Given the description of an element on the screen output the (x, y) to click on. 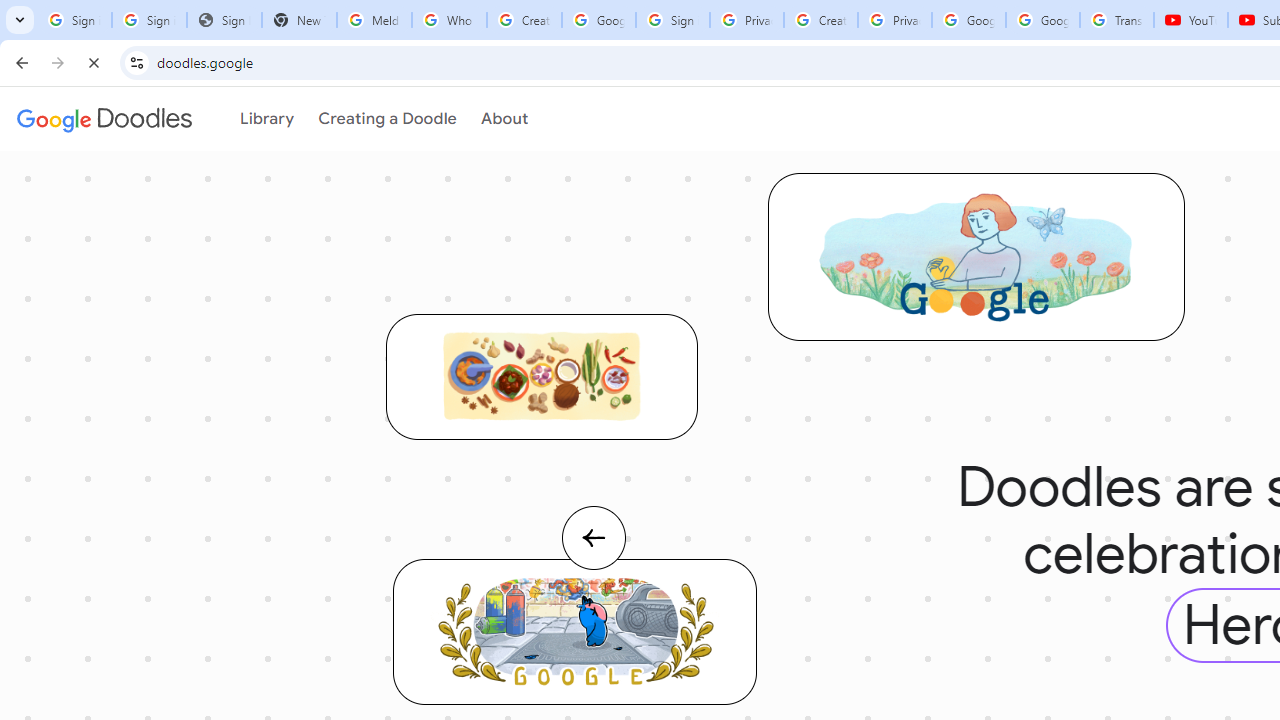
Sign In - USA TODAY (224, 20)
Google Account (1043, 20)
About (493, 119)
New Tab (299, 20)
Create your Google Account (523, 20)
Google doodles (104, 119)
